Given the description of an element on the screen output the (x, y) to click on. 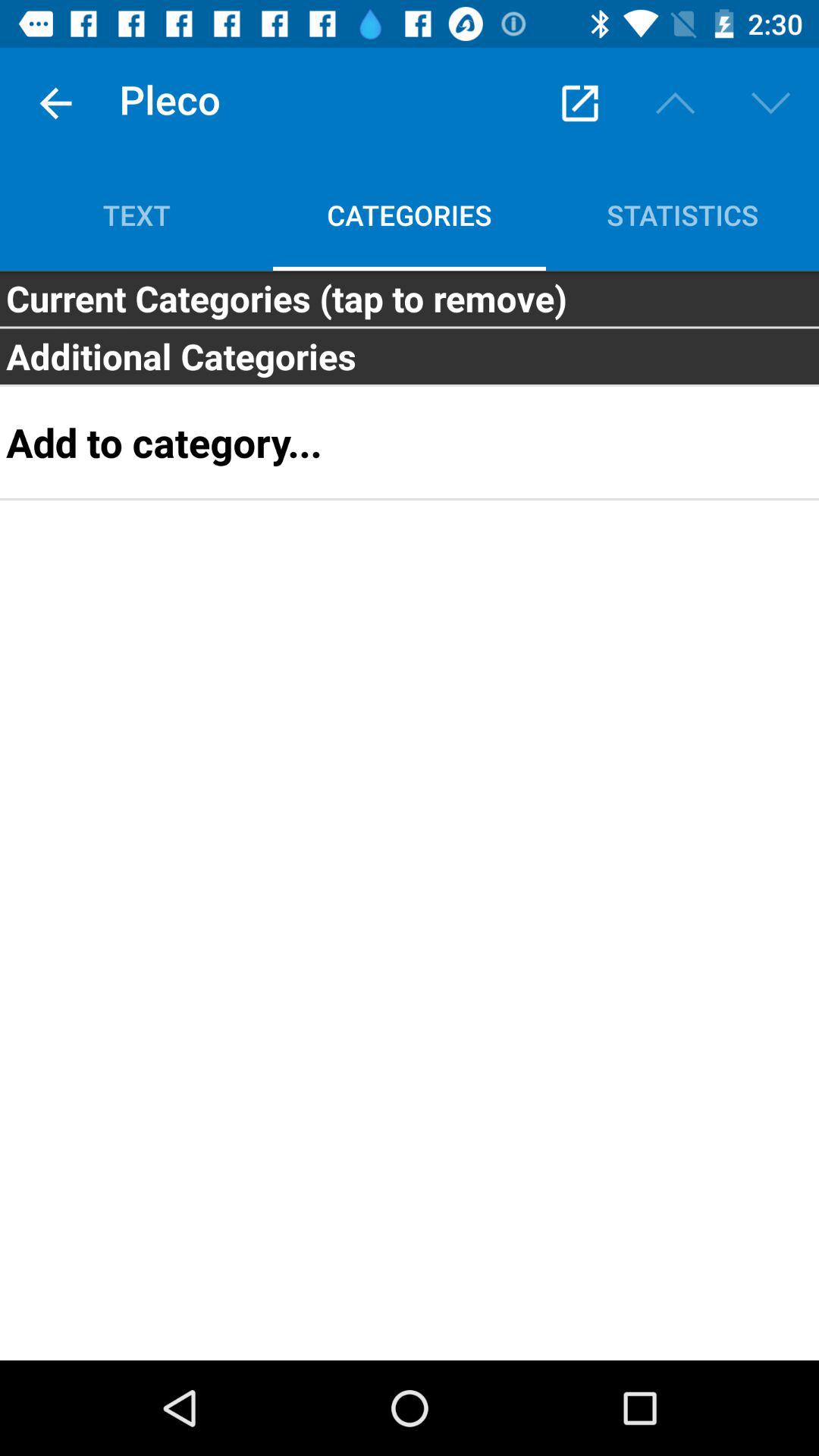
turn on the statistics item (682, 214)
